Given the description of an element on the screen output the (x, y) to click on. 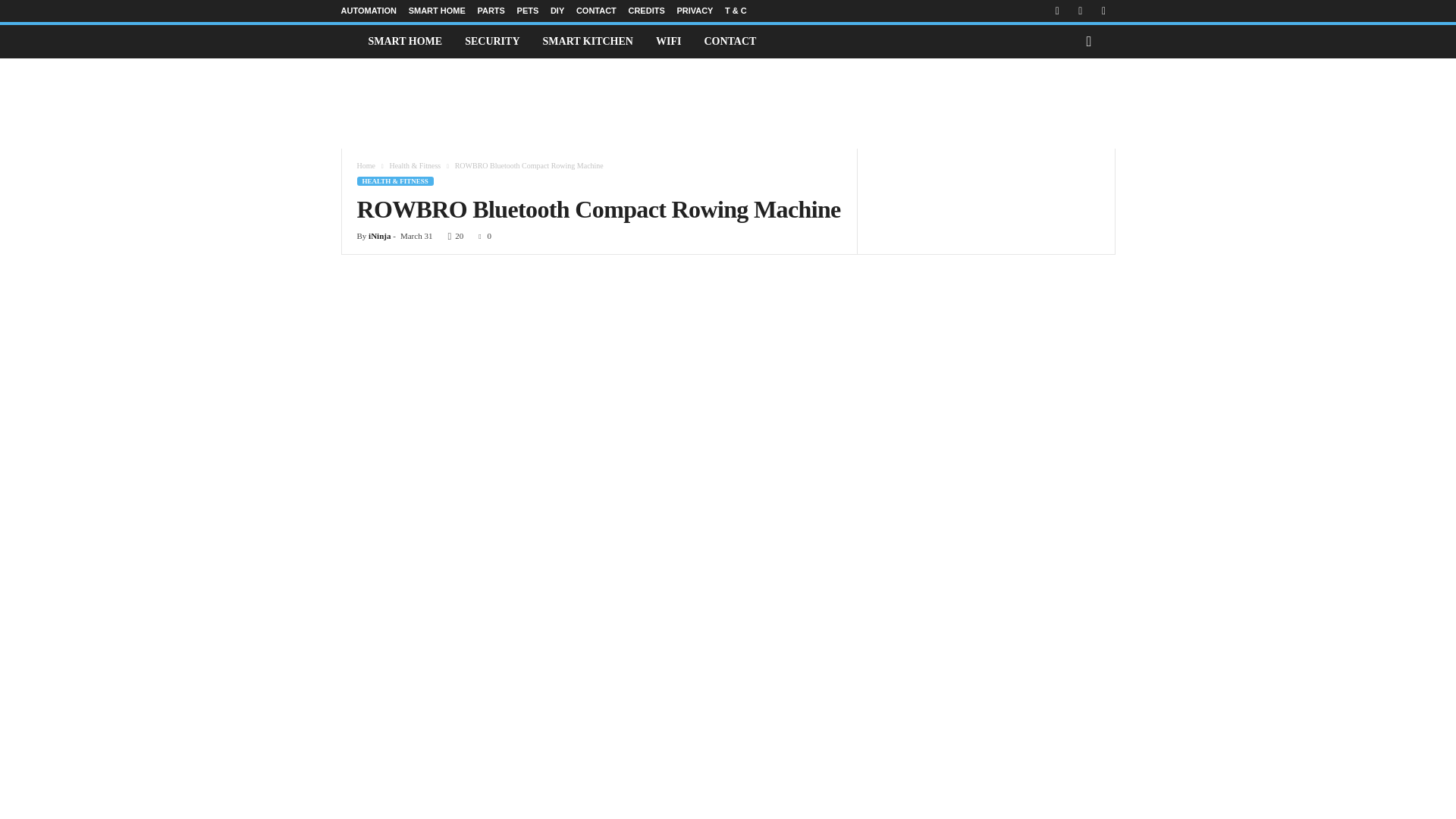
SMART HOME (437, 10)
AUTOMATION (368, 10)
CREDITS (645, 10)
Connected Crib (348, 41)
PARTS (490, 10)
PRIVACY (695, 10)
DIY (557, 10)
SMART HOME (404, 41)
PETS (527, 10)
CONTACT (595, 10)
